Given the description of an element on the screen output the (x, y) to click on. 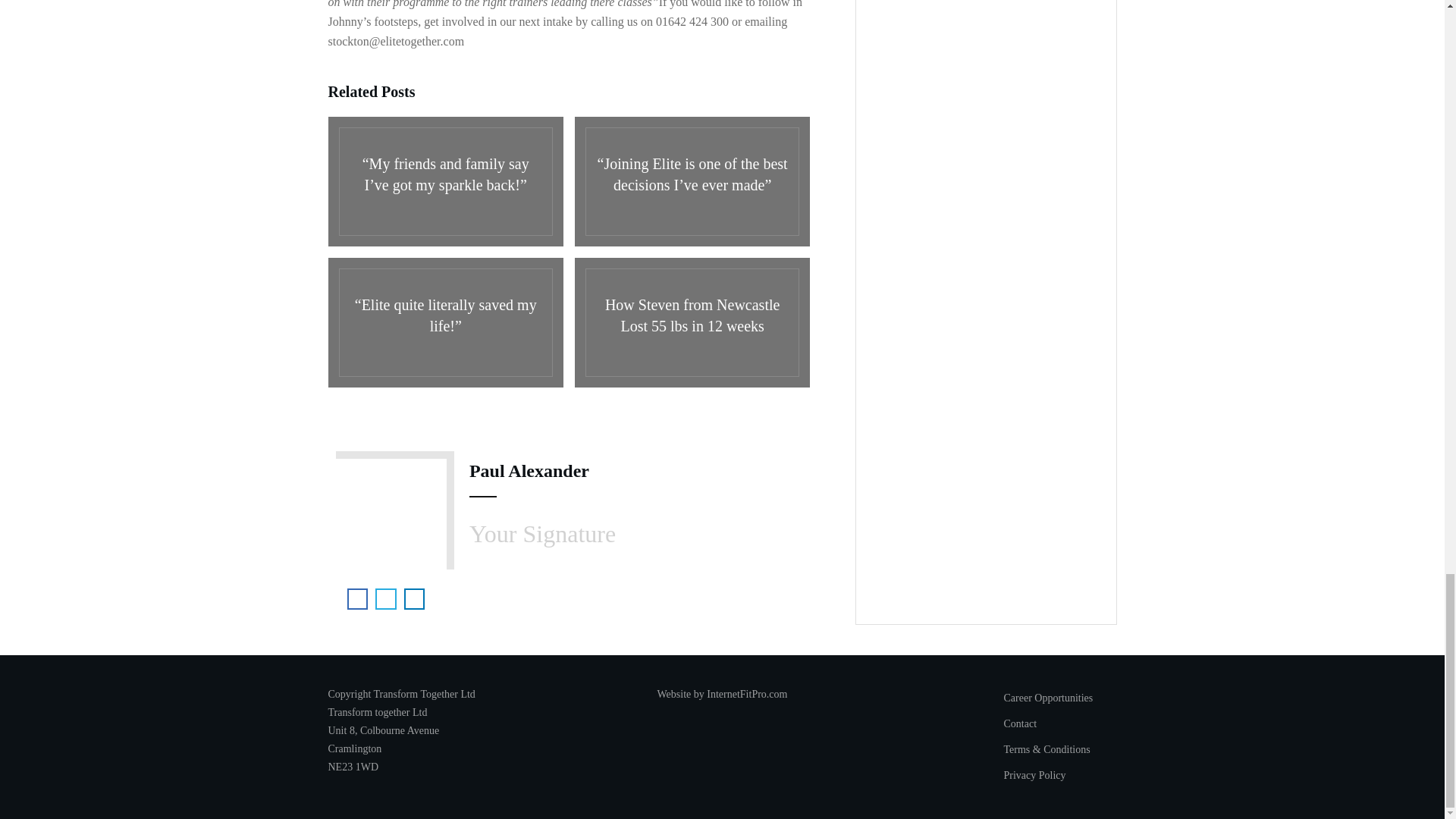
Career Opportunities (1055, 698)
InternetFitPro.com (746, 694)
How Steven from Newcastle Lost 55 lbs in 12 weeks (692, 322)
